Given the description of an element on the screen output the (x, y) to click on. 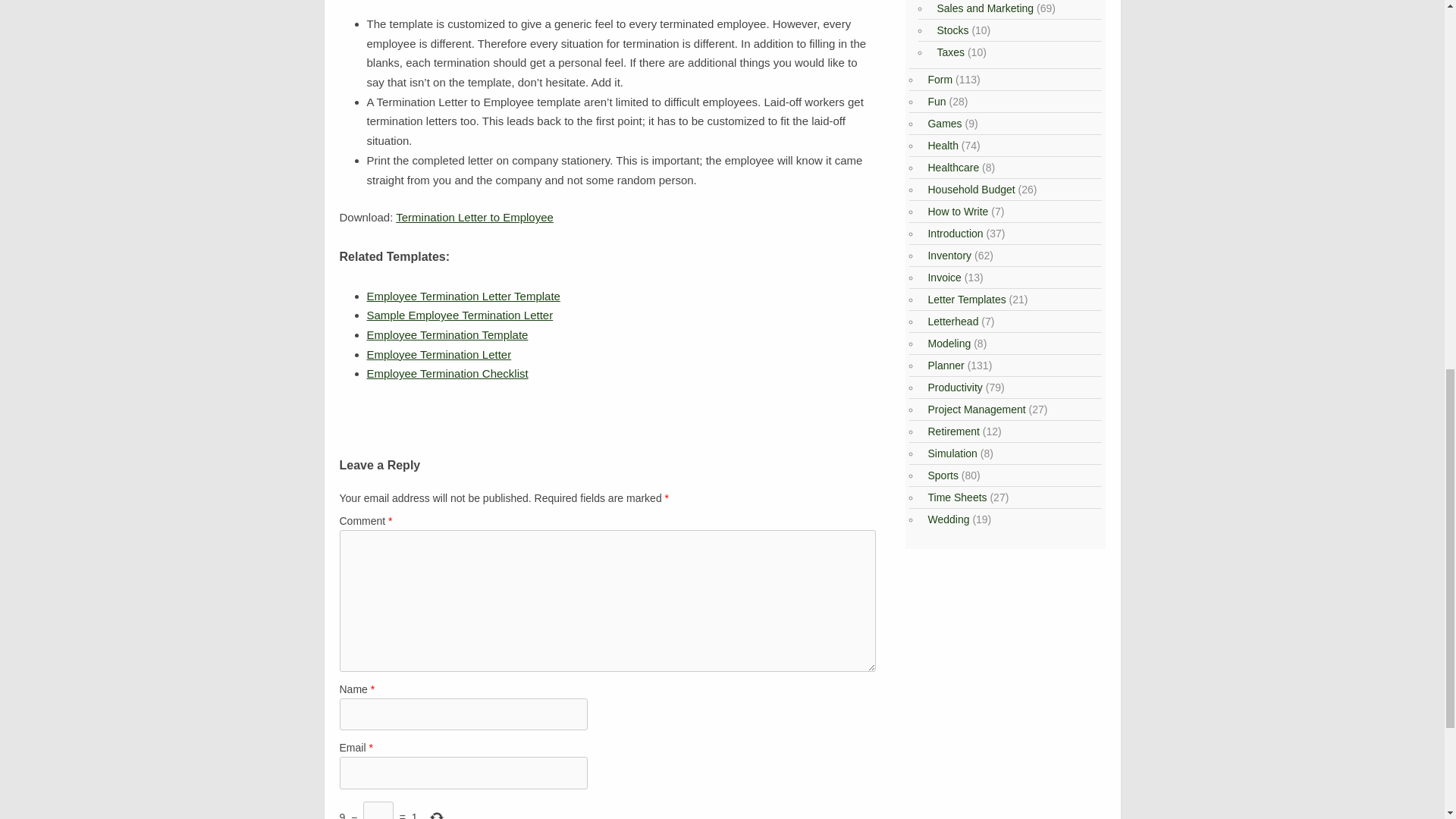
April 29, 2013 (447, 373)
February 14, 2014 (463, 295)
Termination Letter to Employee (474, 216)
Employee Termination Letter Template (463, 295)
Employee Termination Template (447, 334)
February 17, 2014 (459, 314)
February 14, 2014 (439, 354)
Employee Termination Letter (439, 354)
September 11, 2015 (447, 334)
Employee Termination Checklist (447, 373)
